Given the description of an element on the screen output the (x, y) to click on. 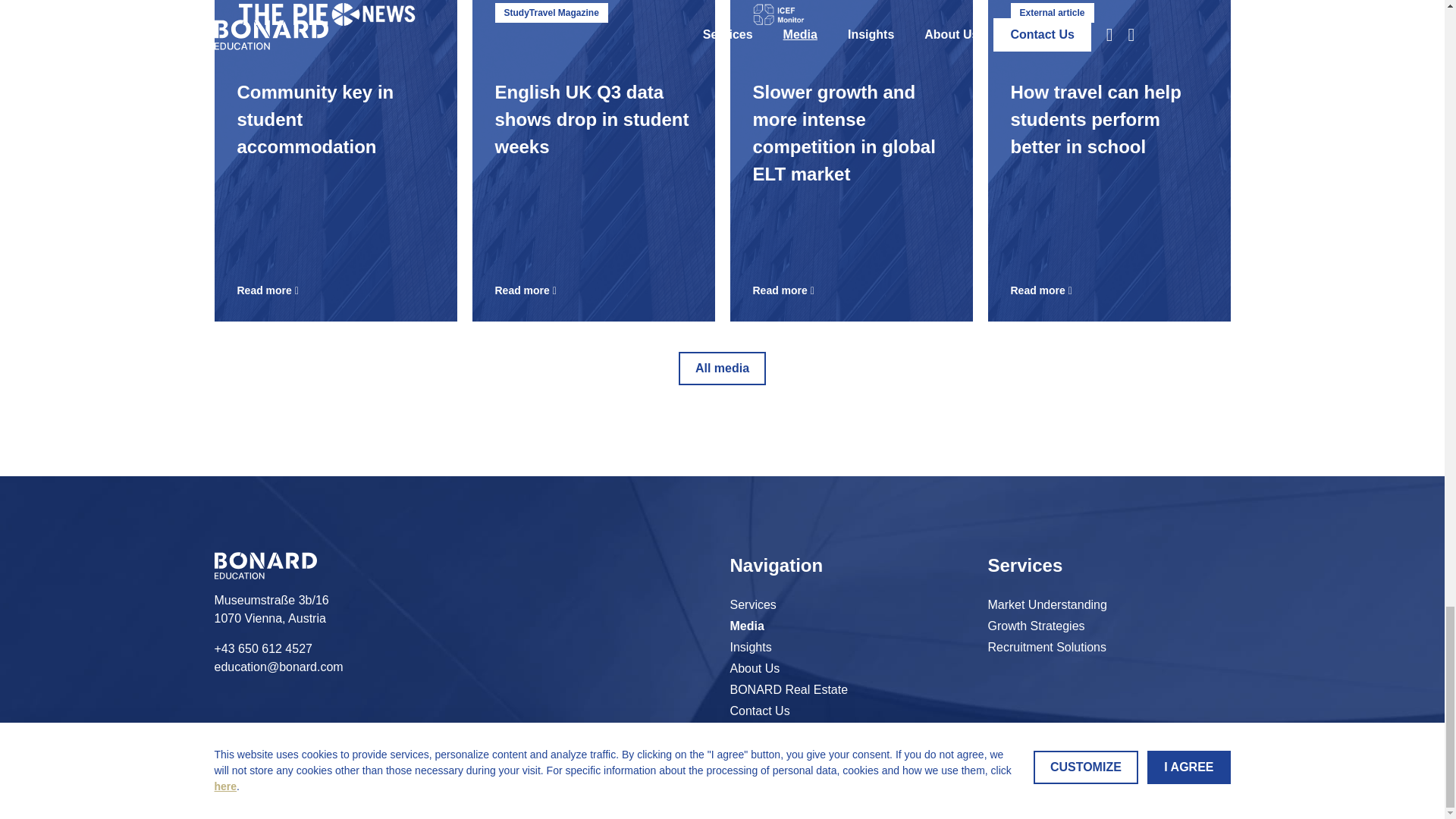
Insights (335, 160)
Growth Strategies (750, 647)
About Us (1035, 626)
About Us (753, 668)
Cookies Settings (753, 668)
BONARD Real Estate (775, 731)
Contact Us (788, 690)
Insights (759, 711)
All media (750, 647)
Cookies Settings (721, 368)
Growth Strategies (775, 731)
BONARD Real Estate (1035, 626)
Market Understanding (788, 690)
